Given the description of an element on the screen output the (x, y) to click on. 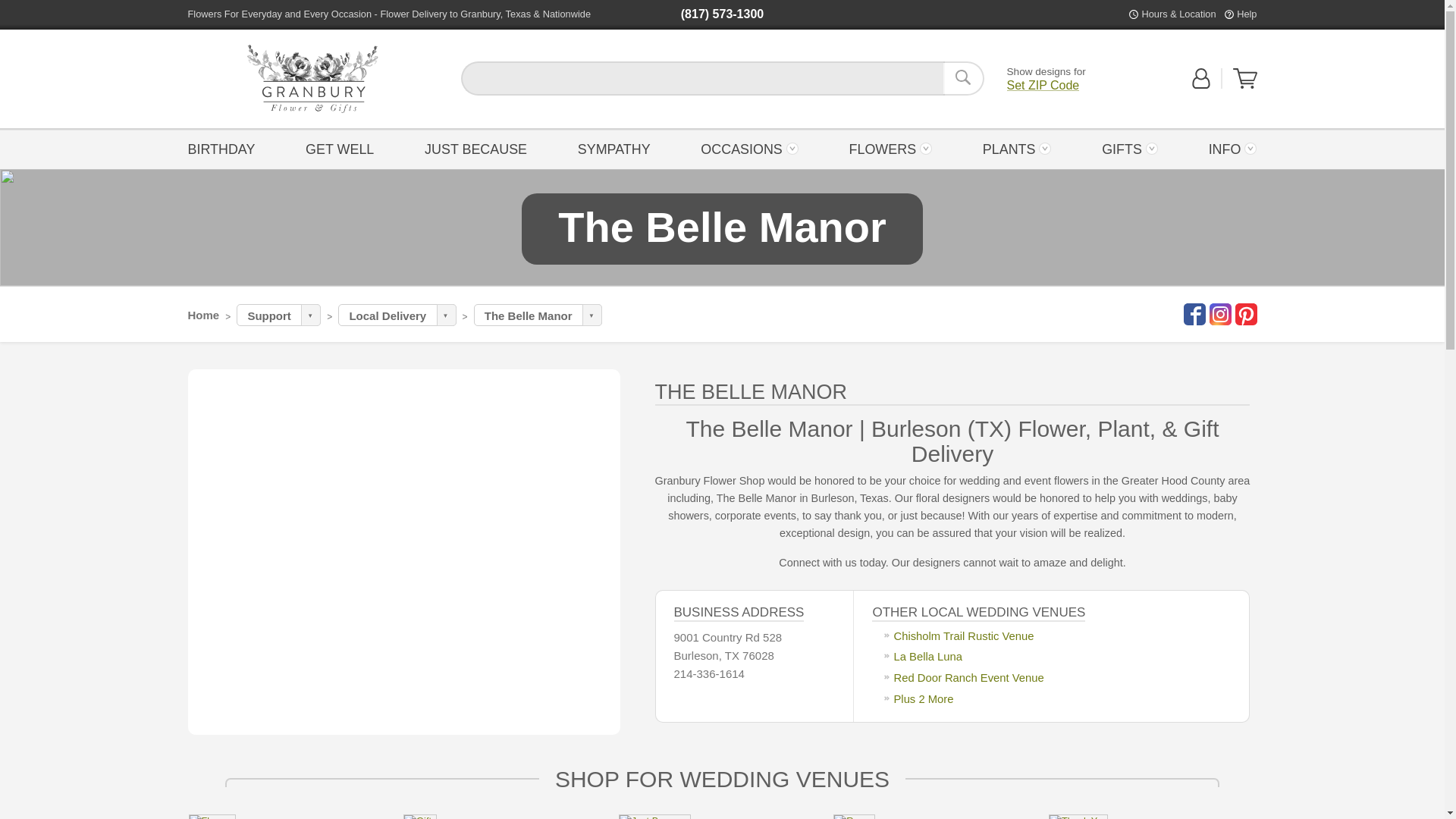
Back to the Home Page (312, 79)
JUST BECAUSE (475, 147)
GET WELL (339, 147)
User Account (1200, 85)
OCCASIONS (749, 147)
Shopping Cart (1245, 85)
Shopping Cart (1245, 78)
Help (1246, 13)
FLOWERS (890, 147)
SYMPATHY (614, 147)
Set ZIP Code (1043, 85)
Search (963, 78)
BIRTHDAY (225, 147)
